Given the description of an element on the screen output the (x, y) to click on. 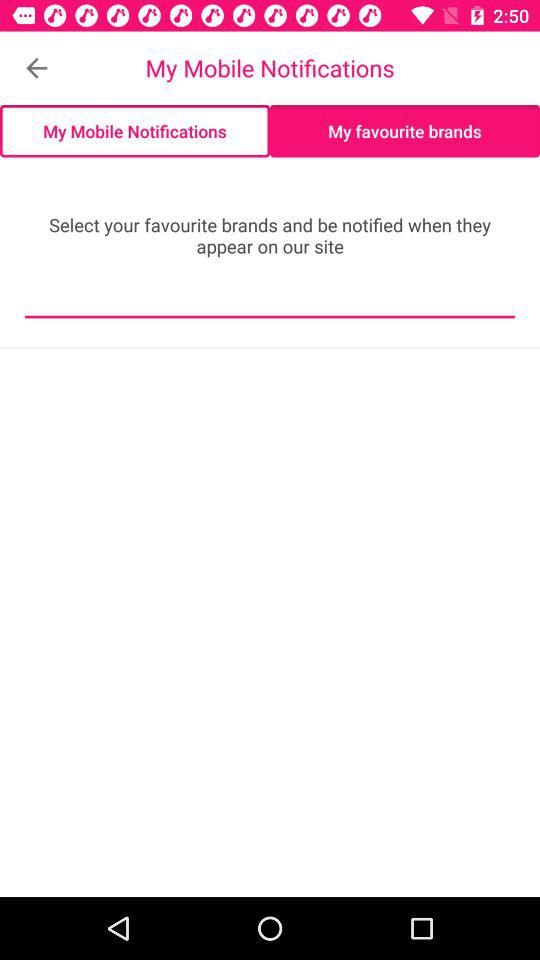
choose item to the left of my mobile notifications item (36, 68)
